Given the description of an element on the screen output the (x, y) to click on. 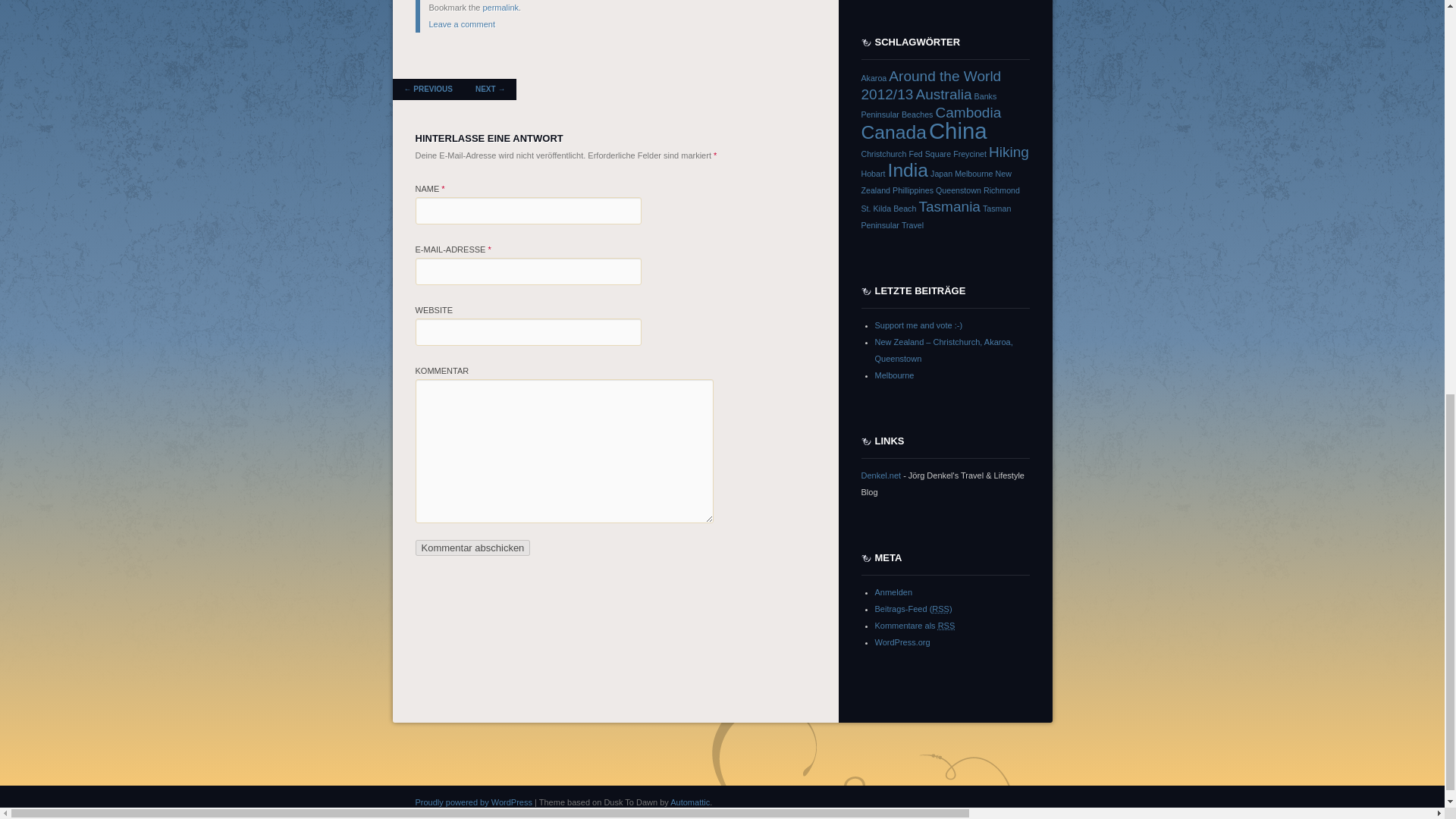
Cambodia (967, 112)
New Zealand (936, 181)
Australia (943, 94)
Leave a comment (462, 23)
Melbourne (973, 172)
Phillippines (912, 189)
India (908, 168)
Canada (893, 131)
Kommentar abschicken (472, 547)
Richmond (1002, 189)
